Given the description of an element on the screen output the (x, y) to click on. 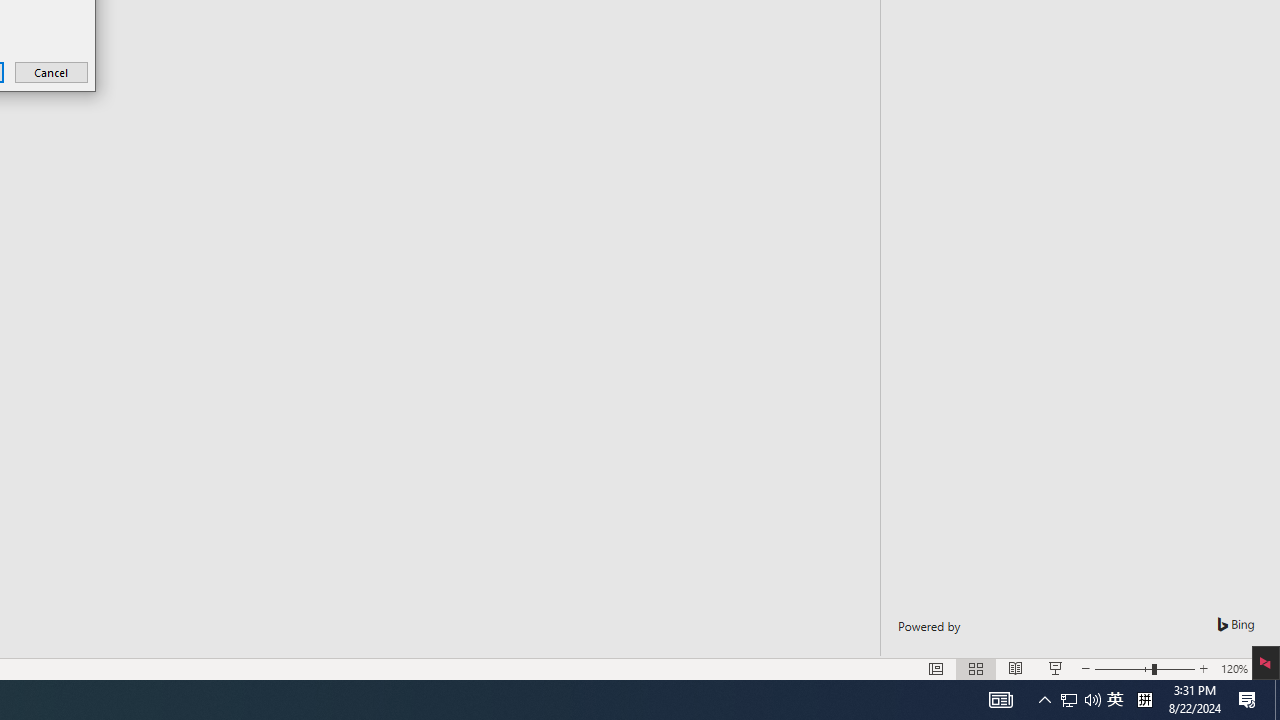
AutomationID: 4105 (1000, 699)
User Promoted Notification Area (1080, 699)
Cancel (51, 72)
